Given the description of an element on the screen output the (x, y) to click on. 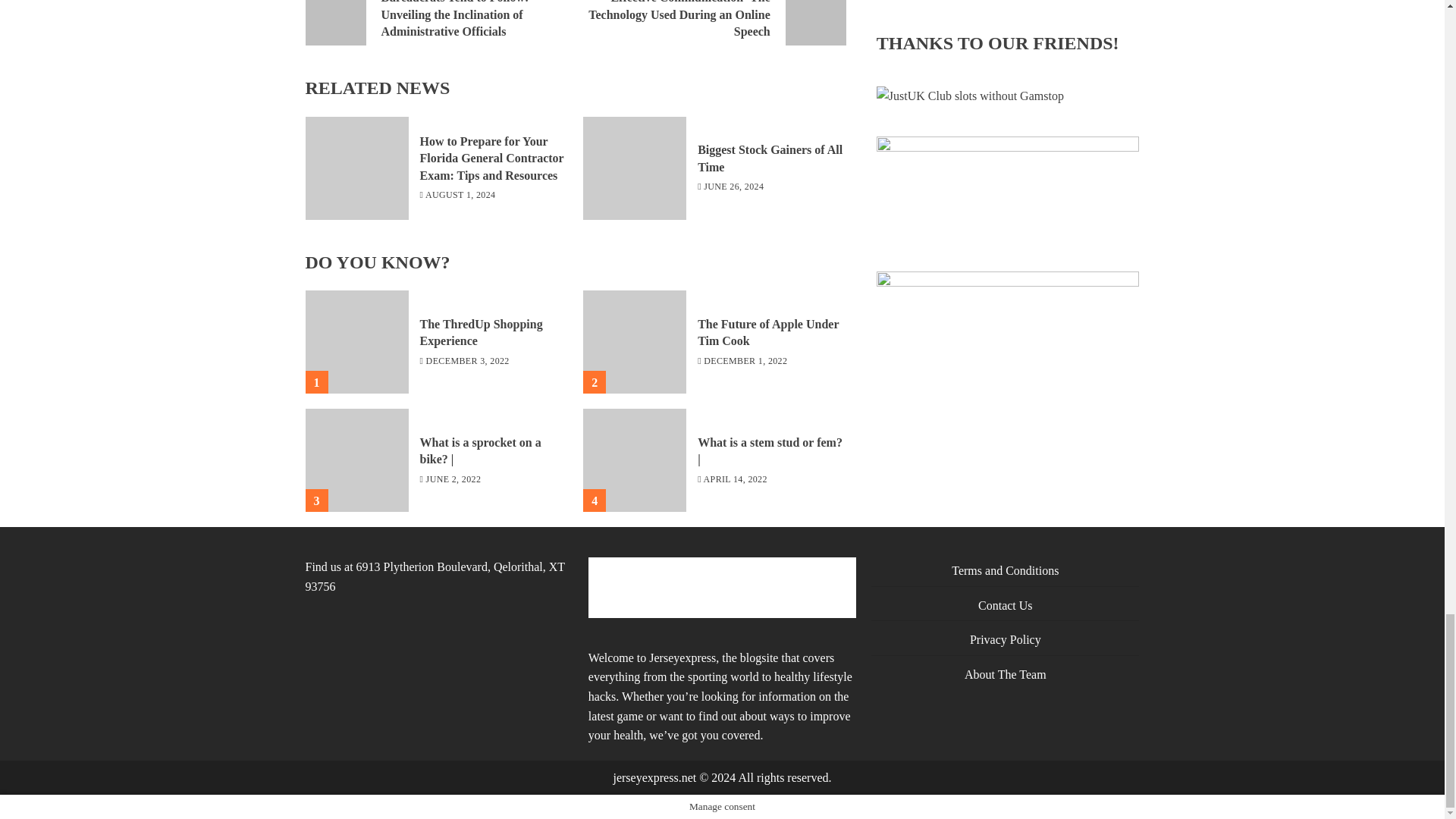
The Future of Apple Under Tim Cook (634, 341)
The Future of Apple Under Tim Cook (767, 332)
Biggest Stock Gainers of All Time (770, 158)
The ThredUp Shopping Experience (481, 332)
The ThredUp Shopping Experience (355, 341)
Biggest Stock Gainers of All Time (634, 168)
